Given the description of an element on the screen output the (x, y) to click on. 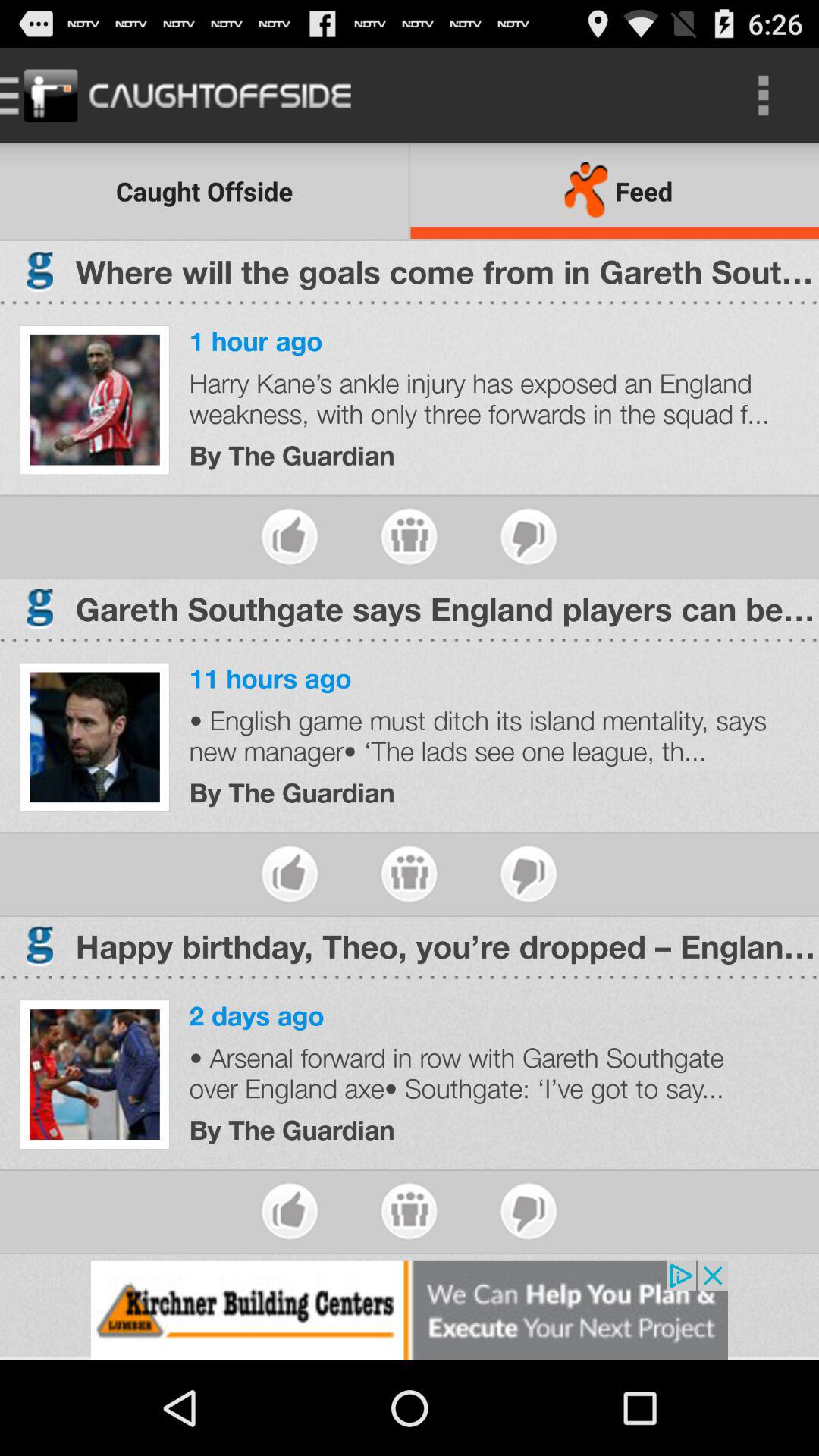
select the advertisement (409, 1310)
